Given the description of an element on the screen output the (x, y) to click on. 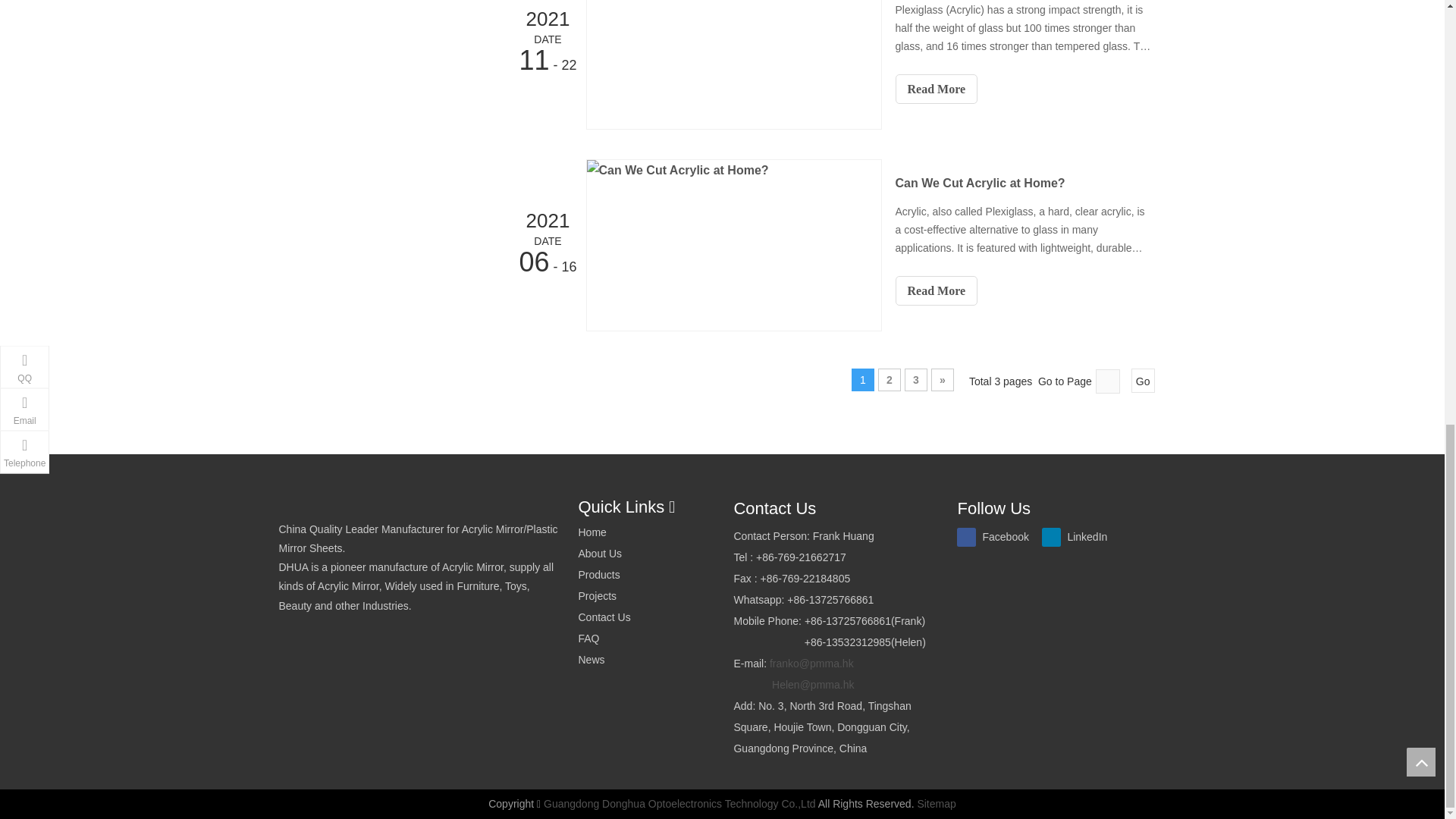
Products (599, 574)
FAQ (588, 638)
Contact Us (604, 616)
About Us (599, 553)
News (591, 659)
Facebook (995, 536)
Projects (596, 595)
Home (591, 532)
